Given the description of an element on the screen output the (x, y) to click on. 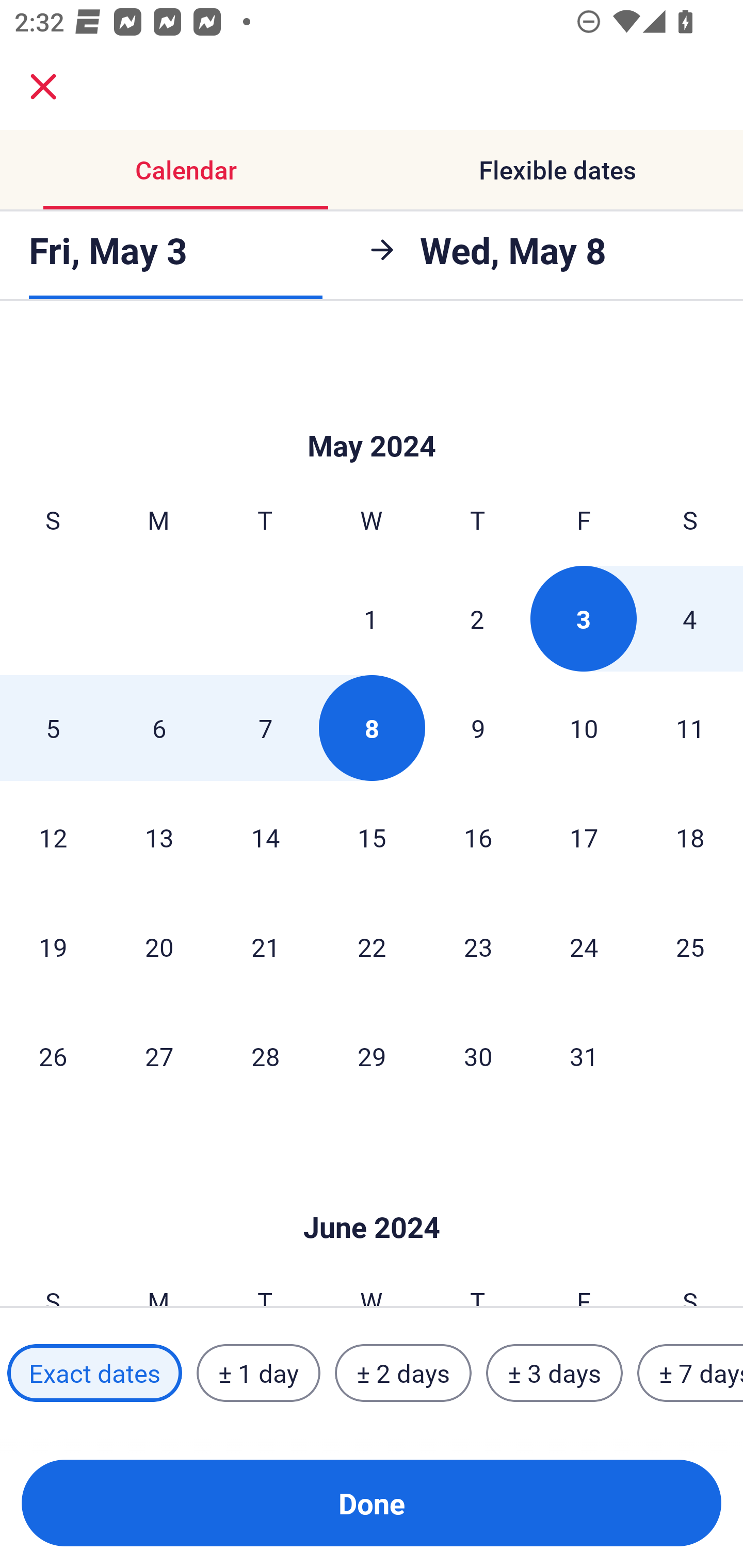
close. (43, 86)
Flexible dates (557, 170)
Skip to Done (371, 414)
1 Wednesday, May 1, 2024 (371, 618)
2 Thursday, May 2, 2024 (477, 618)
9 Thursday, May 9, 2024 (477, 727)
10 Friday, May 10, 2024 (584, 727)
11 Saturday, May 11, 2024 (690, 727)
12 Sunday, May 12, 2024 (53, 837)
13 Monday, May 13, 2024 (159, 837)
14 Tuesday, May 14, 2024 (265, 837)
15 Wednesday, May 15, 2024 (371, 837)
16 Thursday, May 16, 2024 (477, 837)
17 Friday, May 17, 2024 (584, 837)
18 Saturday, May 18, 2024 (690, 837)
19 Sunday, May 19, 2024 (53, 946)
20 Monday, May 20, 2024 (159, 946)
21 Tuesday, May 21, 2024 (265, 946)
22 Wednesday, May 22, 2024 (371, 946)
23 Thursday, May 23, 2024 (477, 946)
24 Friday, May 24, 2024 (584, 946)
25 Saturday, May 25, 2024 (690, 946)
26 Sunday, May 26, 2024 (53, 1055)
27 Monday, May 27, 2024 (159, 1055)
28 Tuesday, May 28, 2024 (265, 1055)
29 Wednesday, May 29, 2024 (371, 1055)
30 Thursday, May 30, 2024 (477, 1055)
31 Friday, May 31, 2024 (584, 1055)
Skip to Done (371, 1197)
Exact dates (94, 1372)
± 1 day (258, 1372)
± 2 days (403, 1372)
± 3 days (553, 1372)
± 7 days (690, 1372)
Done (371, 1502)
